Given the description of an element on the screen output the (x, y) to click on. 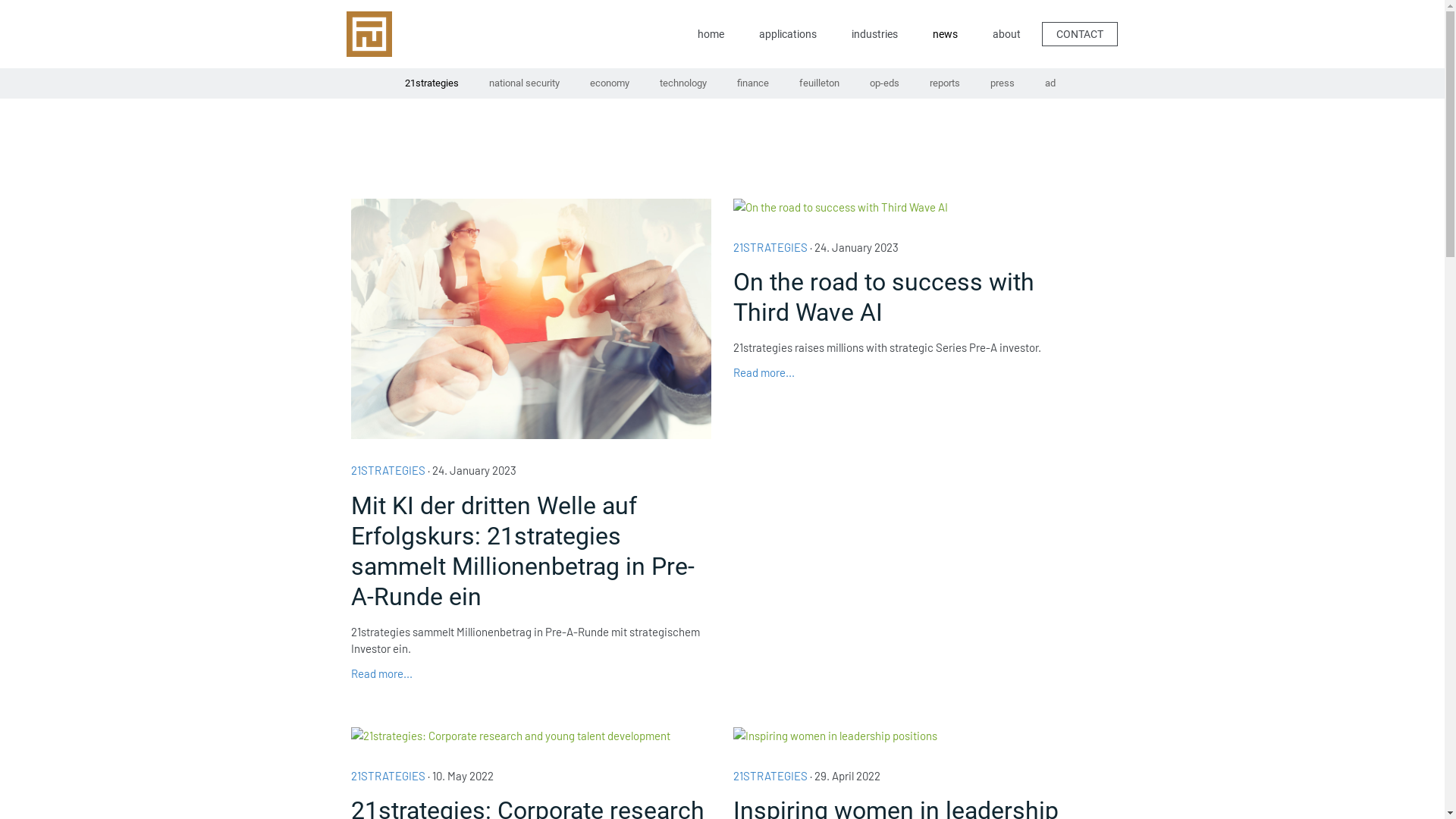
press Element type: text (1002, 83)
21STRATEGIES Element type: text (770, 775)
home Element type: text (710, 34)
op-eds Element type: text (883, 83)
21STRATEGIES Element type: text (387, 775)
CONTACT Element type: text (1079, 33)
economy Element type: text (609, 83)
feuilleton Element type: text (819, 83)
21STRATEGIES Element type: text (770, 246)
finance Element type: text (752, 83)
about Element type: text (1005, 34)
On the road to success with Third Wave AI Element type: text (913, 296)
Read more... Element type: text (380, 673)
national security Element type: text (523, 83)
reports Element type: text (944, 83)
Read more... Element type: text (763, 372)
technology Element type: text (682, 83)
applications Element type: text (786, 34)
industries Element type: text (873, 34)
news Element type: text (945, 33)
21strategies Element type: text (431, 83)
21STRATEGIES Element type: text (387, 469)
ad Element type: text (1049, 83)
